Given the description of an element on the screen output the (x, y) to click on. 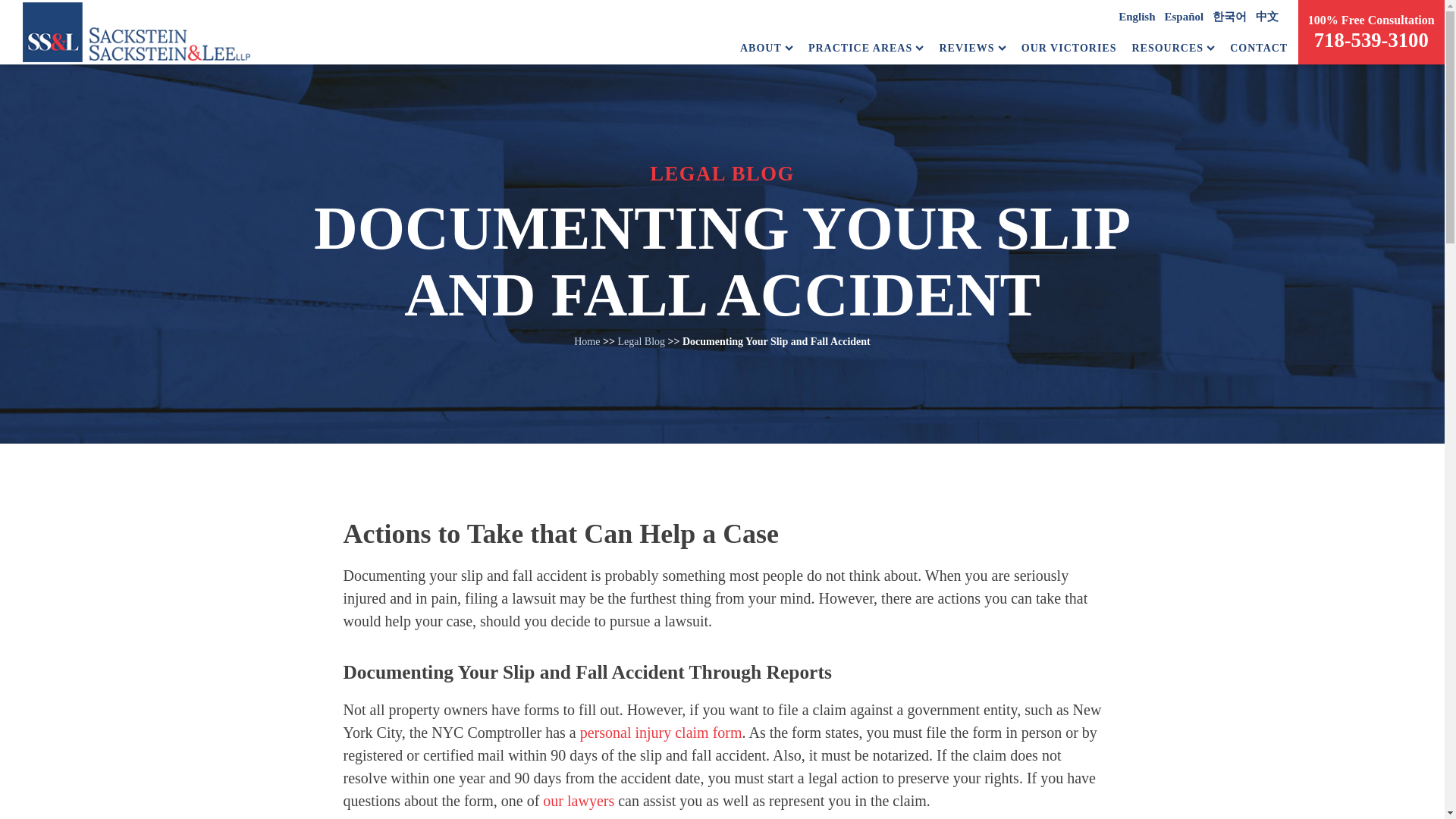
PRACTICE AREAS (866, 48)
OUR VICTORIES (1069, 48)
ABOUT (766, 48)
RESOURCES (1172, 48)
CONTACT (1258, 48)
718-539-3100 (1371, 40)
REVIEWS (972, 48)
English (1136, 16)
